Given the description of an element on the screen output the (x, y) to click on. 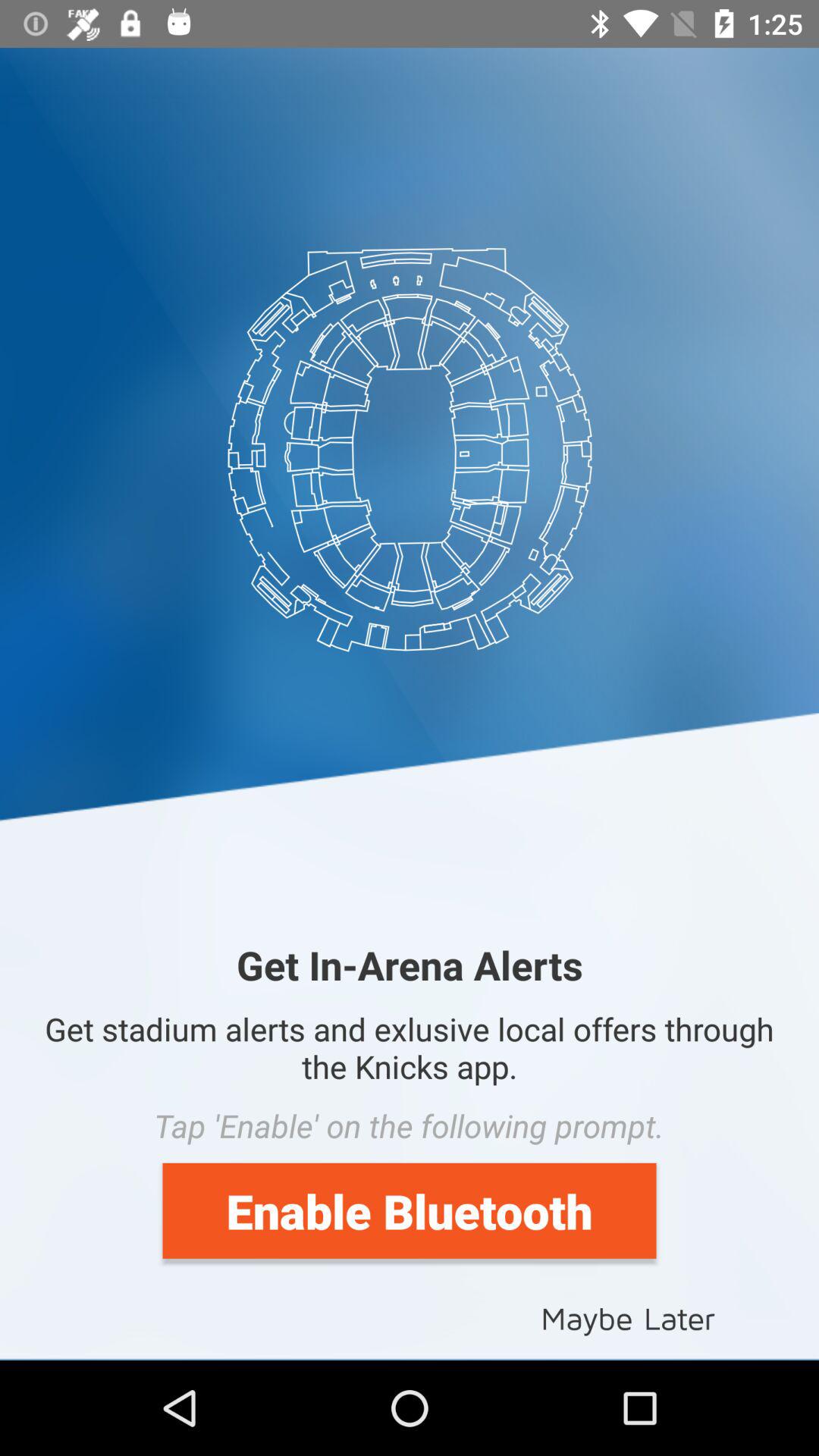
press icon below tap enable on (409, 1210)
